Given the description of an element on the screen output the (x, y) to click on. 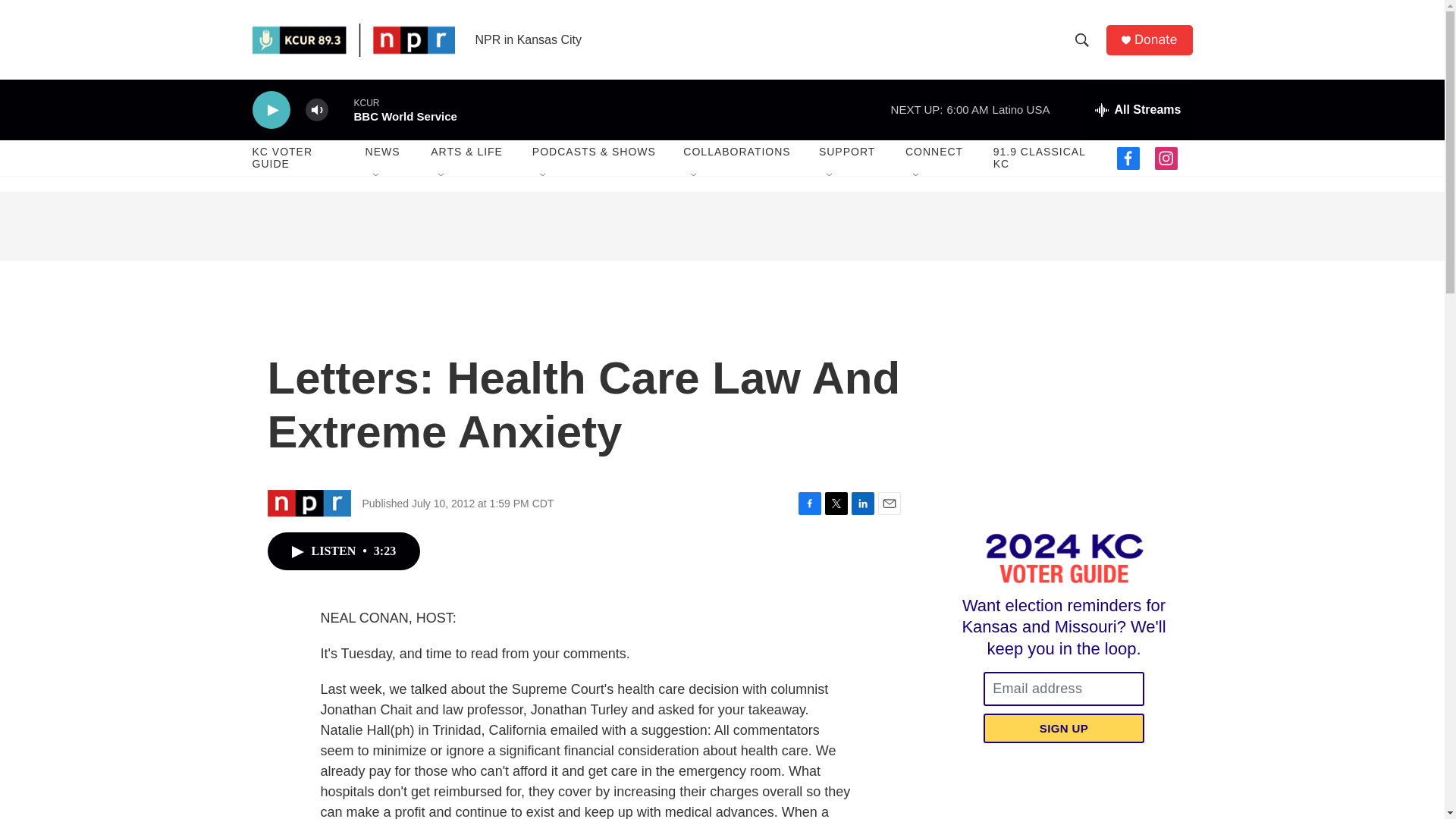
3rd party ad content (721, 226)
3rd party ad content (1062, 401)
